Given the description of an element on the screen output the (x, y) to click on. 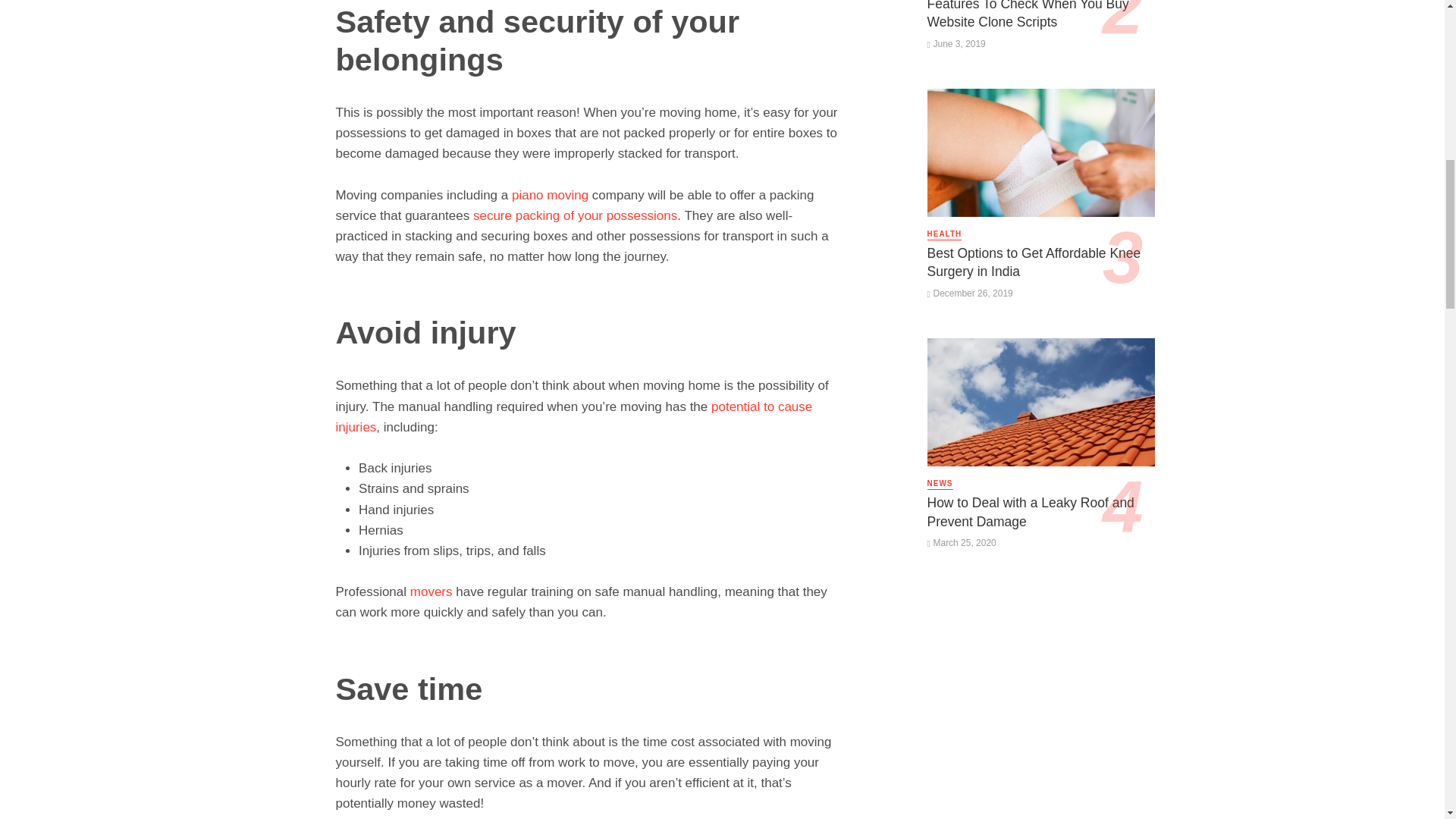
piano moving (550, 195)
movers (431, 591)
secure packing of your possessions (575, 215)
potential to cause injuries (573, 416)
